Given the description of an element on the screen output the (x, y) to click on. 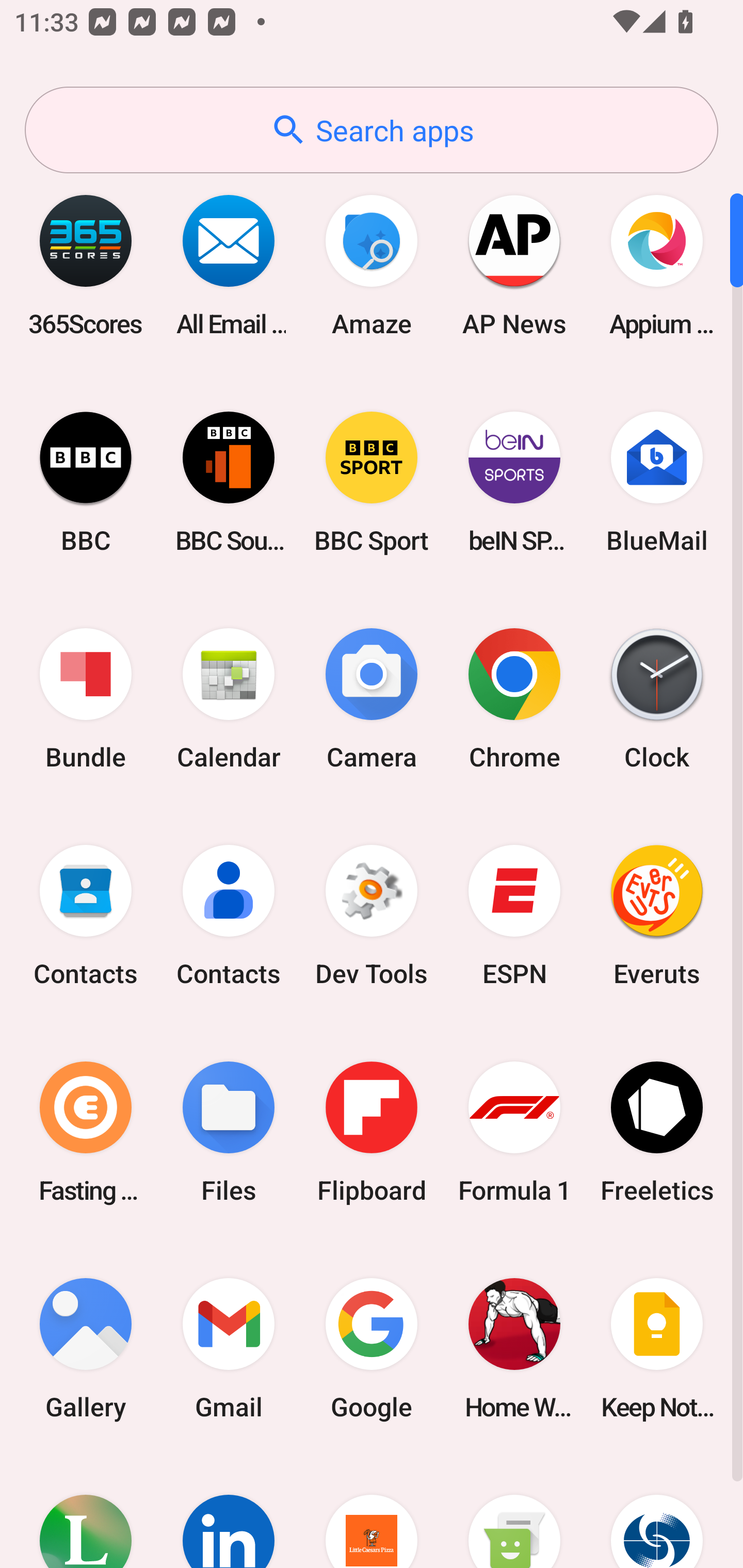
  Search apps (371, 130)
365Scores (85, 264)
All Email Connect (228, 264)
Amaze (371, 264)
AP News (514, 264)
Appium Settings (656, 264)
BBC (85, 482)
BBC Sounds (228, 482)
BBC Sport (371, 482)
beIN SPORTS (514, 482)
BlueMail (656, 482)
Bundle (85, 699)
Calendar (228, 699)
Camera (371, 699)
Chrome (514, 699)
Clock (656, 699)
Contacts (85, 915)
Contacts (228, 915)
Dev Tools (371, 915)
ESPN (514, 915)
Everuts (656, 915)
Fasting Coach (85, 1131)
Files (228, 1131)
Flipboard (371, 1131)
Formula 1 (514, 1131)
Freeletics (656, 1131)
Gallery (85, 1348)
Gmail (228, 1348)
Google (371, 1348)
Home Workout (514, 1348)
Keep Notes (656, 1348)
Lifesum (85, 1512)
LinkedIn (228, 1512)
Little Caesars Pizza (371, 1512)
Messaging (514, 1512)
MyObservatory (656, 1512)
